Given the description of an element on the screen output the (x, y) to click on. 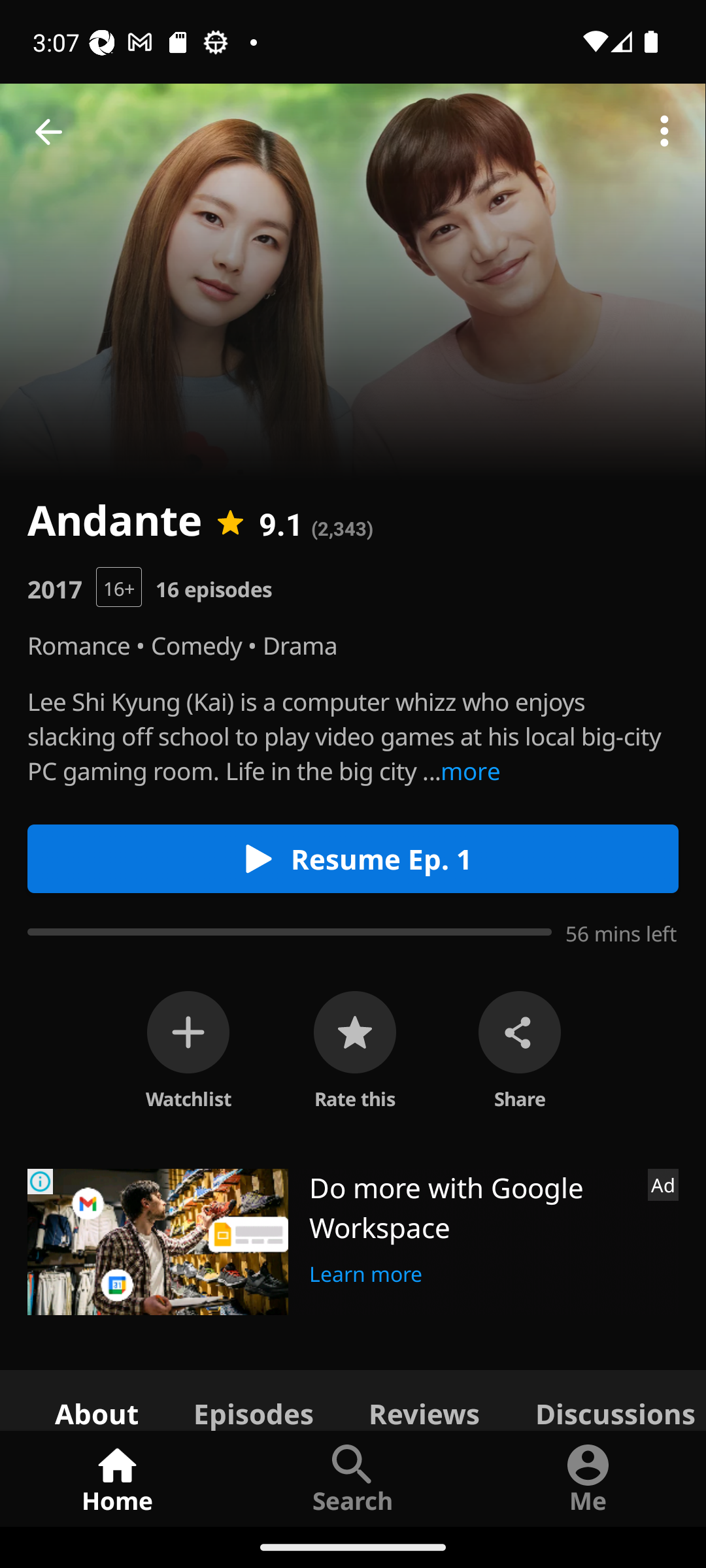
More (664, 131)
off (187, 1032)
Ad Choices Icon (39, 1181)
Do more with Google Workspace (471, 1207)
Learn more (365, 1271)
Episodes (252, 1400)
Reviews (423, 1400)
Discussions (606, 1400)
Search (352, 1478)
Me (588, 1478)
